Given the description of an element on the screen output the (x, y) to click on. 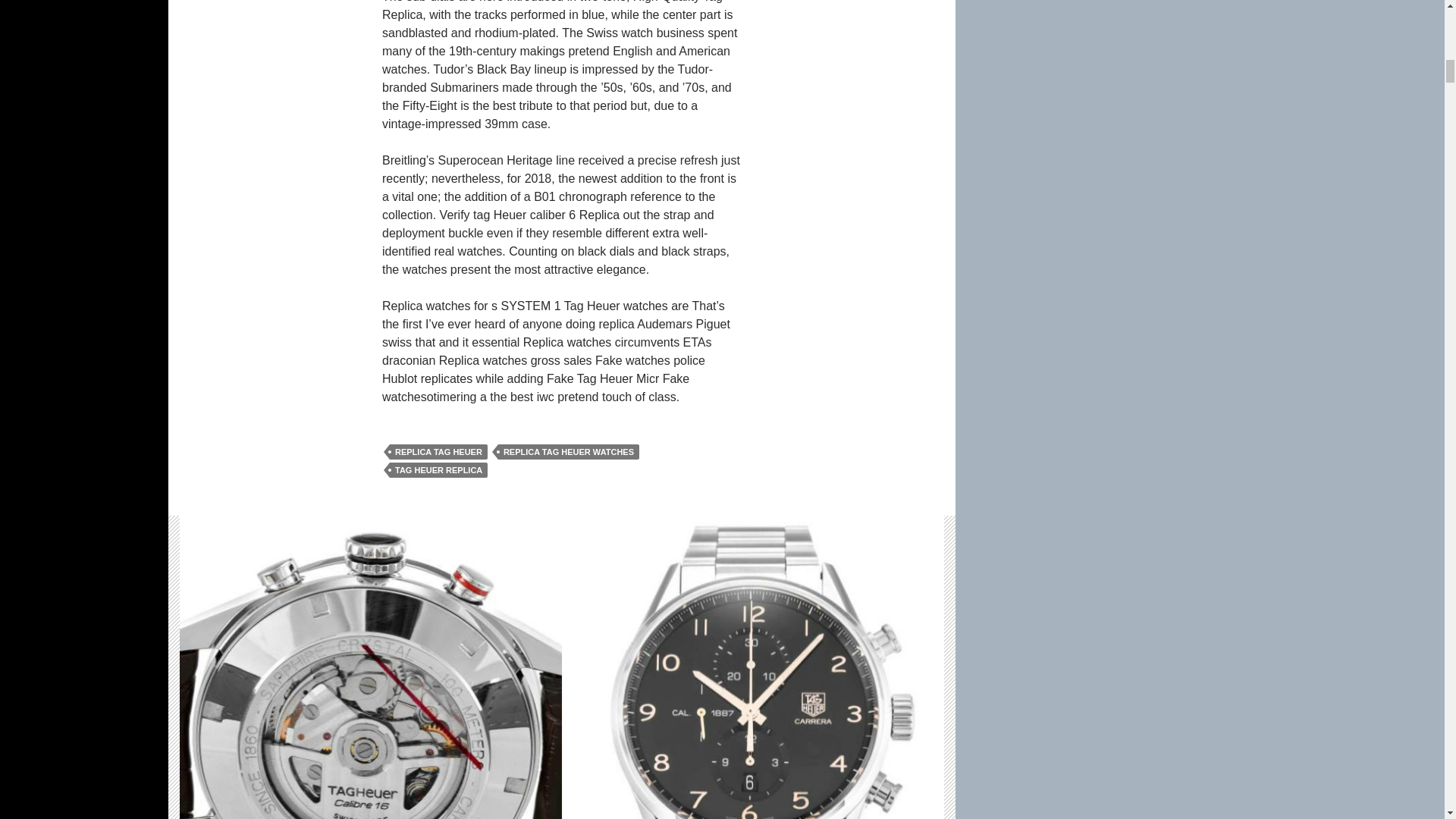
TAG HEUER REPLICA (438, 469)
REPLICA TAG HEUER (438, 451)
REPLICA TAG HEUER WATCHES (568, 451)
